Given the description of an element on the screen output the (x, y) to click on. 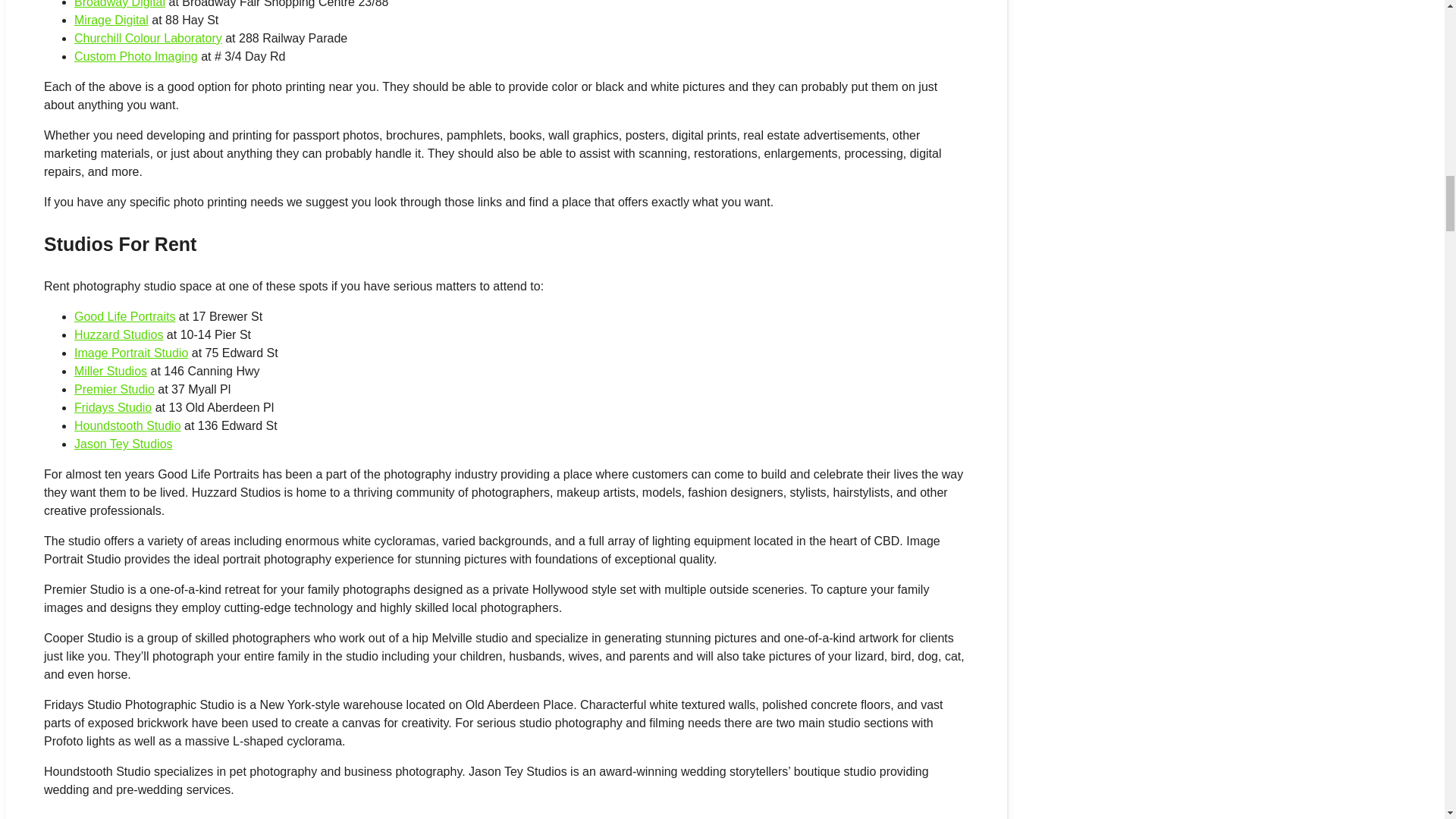
Broadway Digital (119, 4)
